Given the description of an element on the screen output the (x, y) to click on. 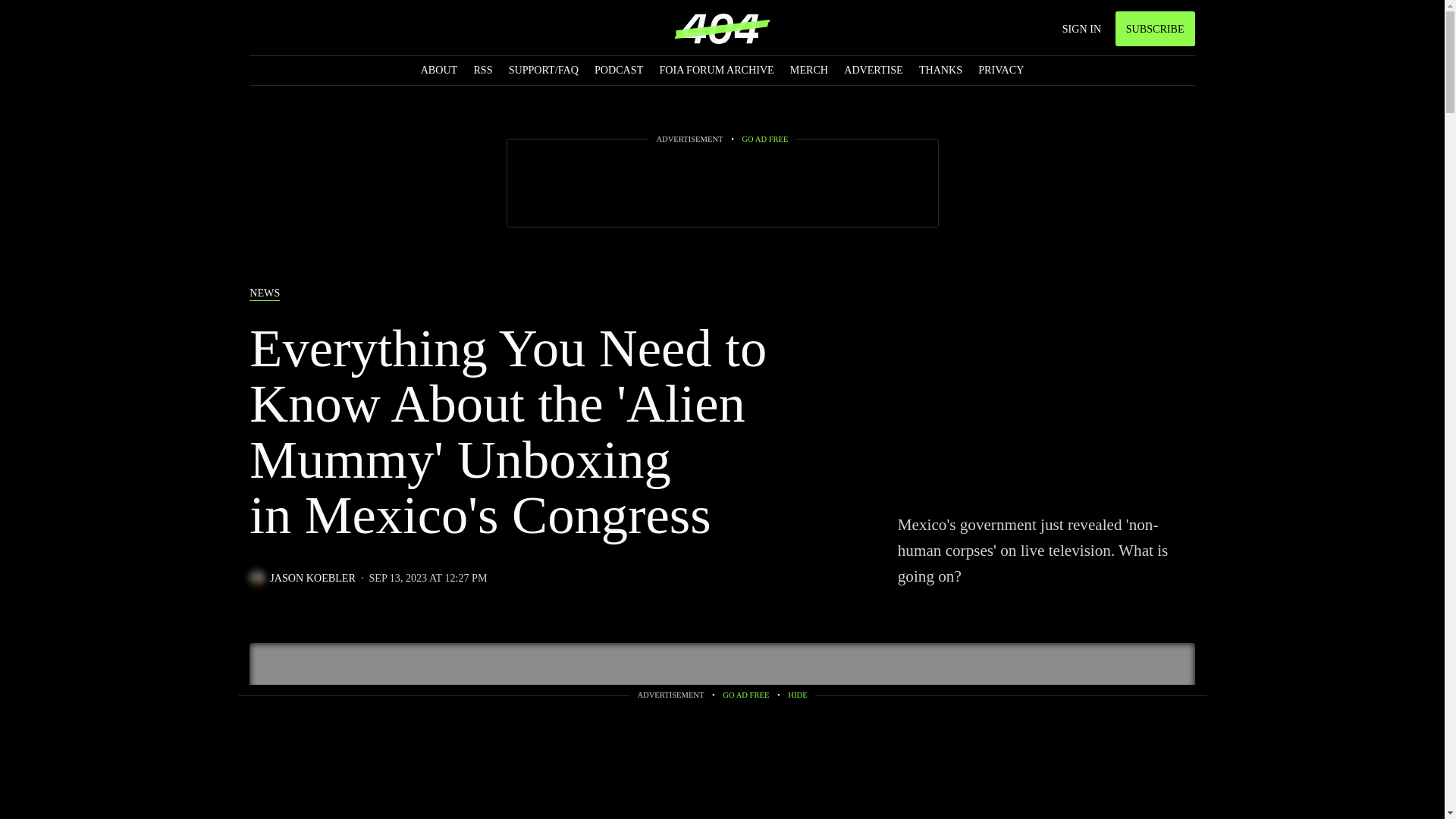
Search (256, 28)
ABOUT (439, 69)
JASON KOEBLER (301, 577)
RSS (482, 69)
SUBSCRIBE (1155, 28)
MERCH (809, 69)
THANKS (940, 69)
FOIA FORUM ARCHIVE (716, 69)
Jason Koebler (301, 577)
Light Theme (286, 28)
